Given the description of an element on the screen output the (x, y) to click on. 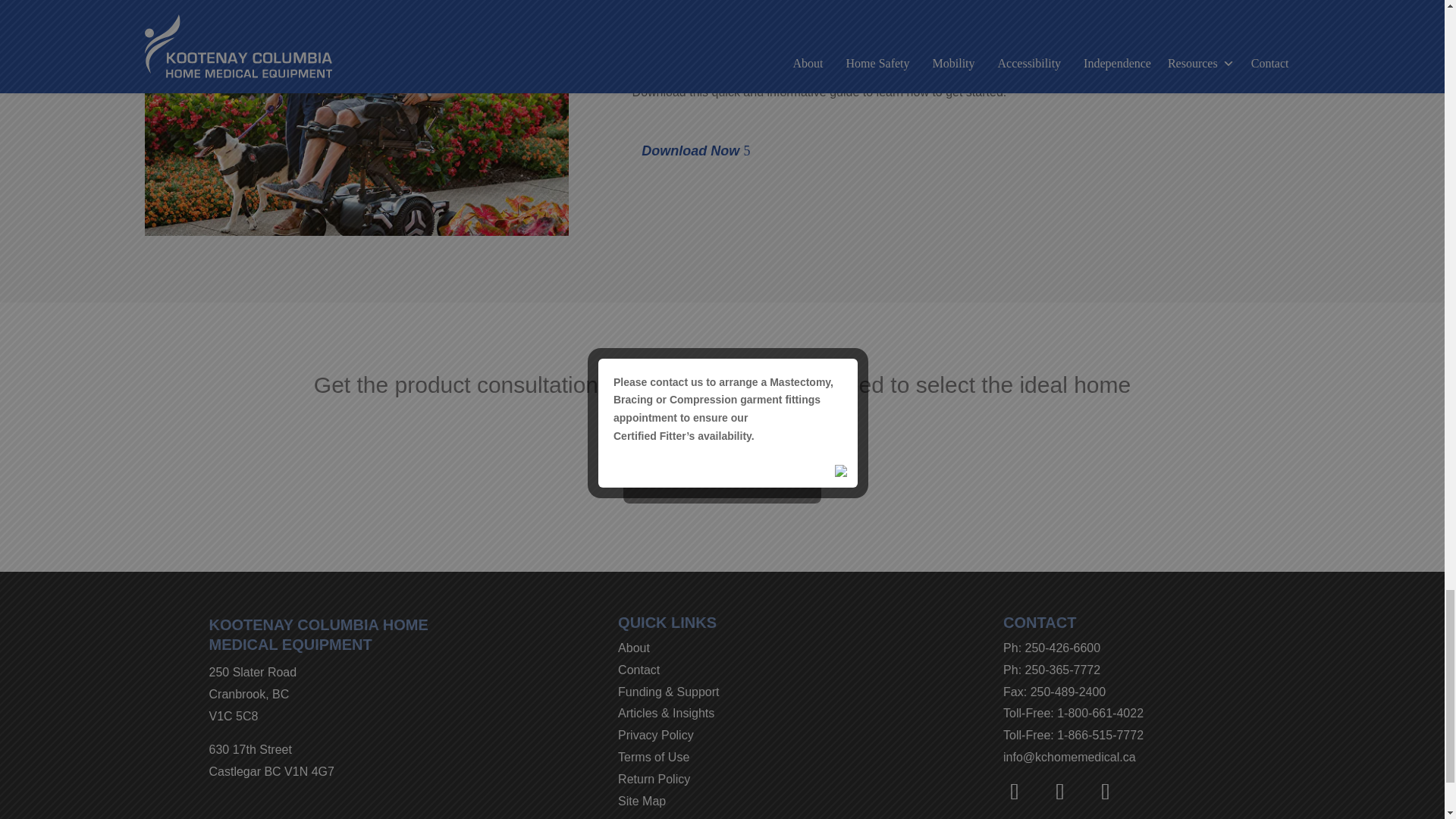
Follow on Instagram (1059, 791)
Follow on LinkedIn (1105, 791)
Follow on Facebook (1013, 791)
Mask Group 1 (355, 117)
